Given the description of an element on the screen output the (x, y) to click on. 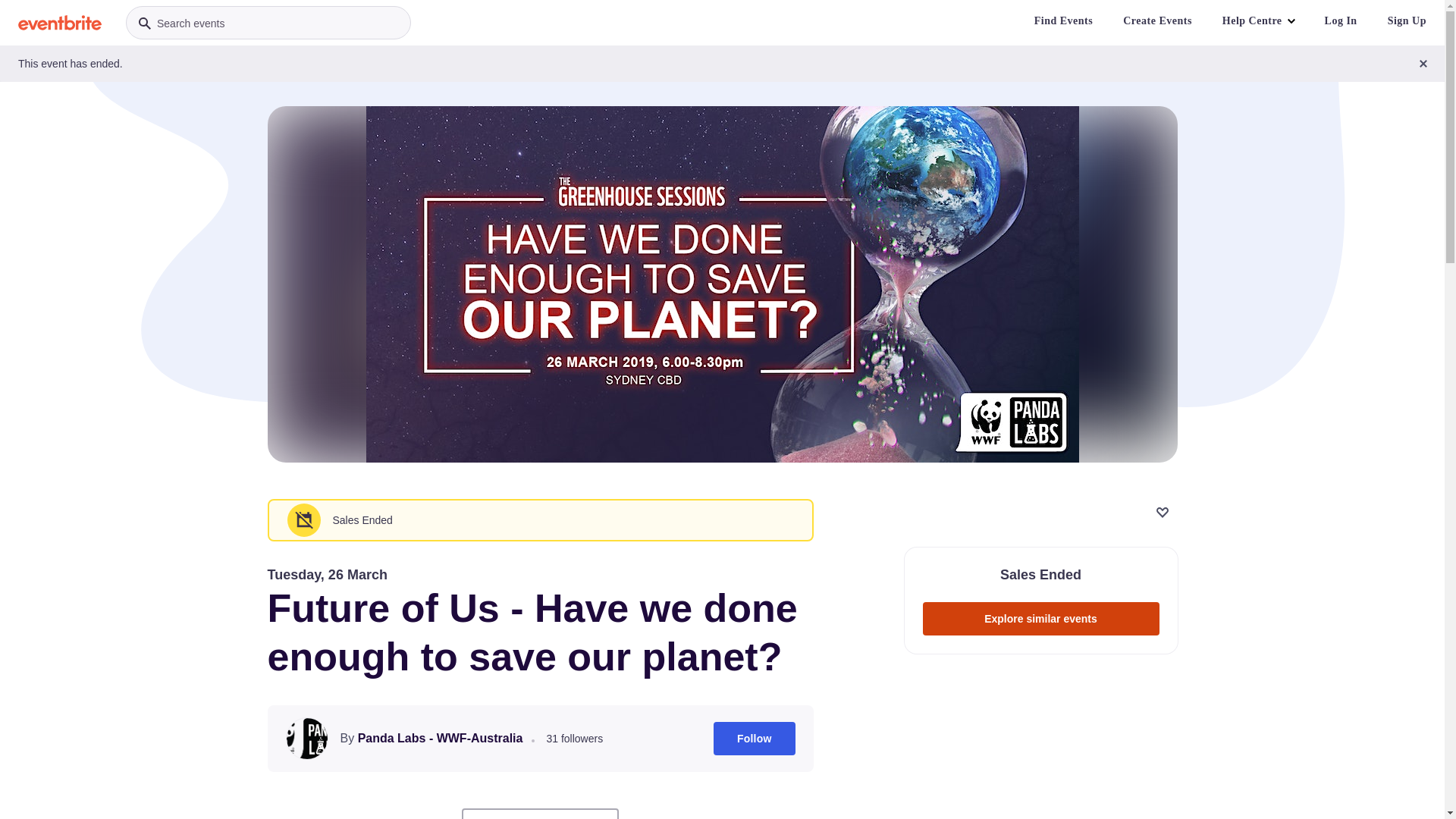
Find Events Element type: text (1063, 21)
Eventbrite Element type: hover (59, 22)
Explore similar events Element type: text (1040, 618)
Log In Element type: text (1340, 21)
Create Events Element type: text (1157, 21)
Sign Up Element type: text (1406, 21)
Follow Element type: text (754, 738)
Search events Element type: text (268, 22)
